Given the description of an element on the screen output the (x, y) to click on. 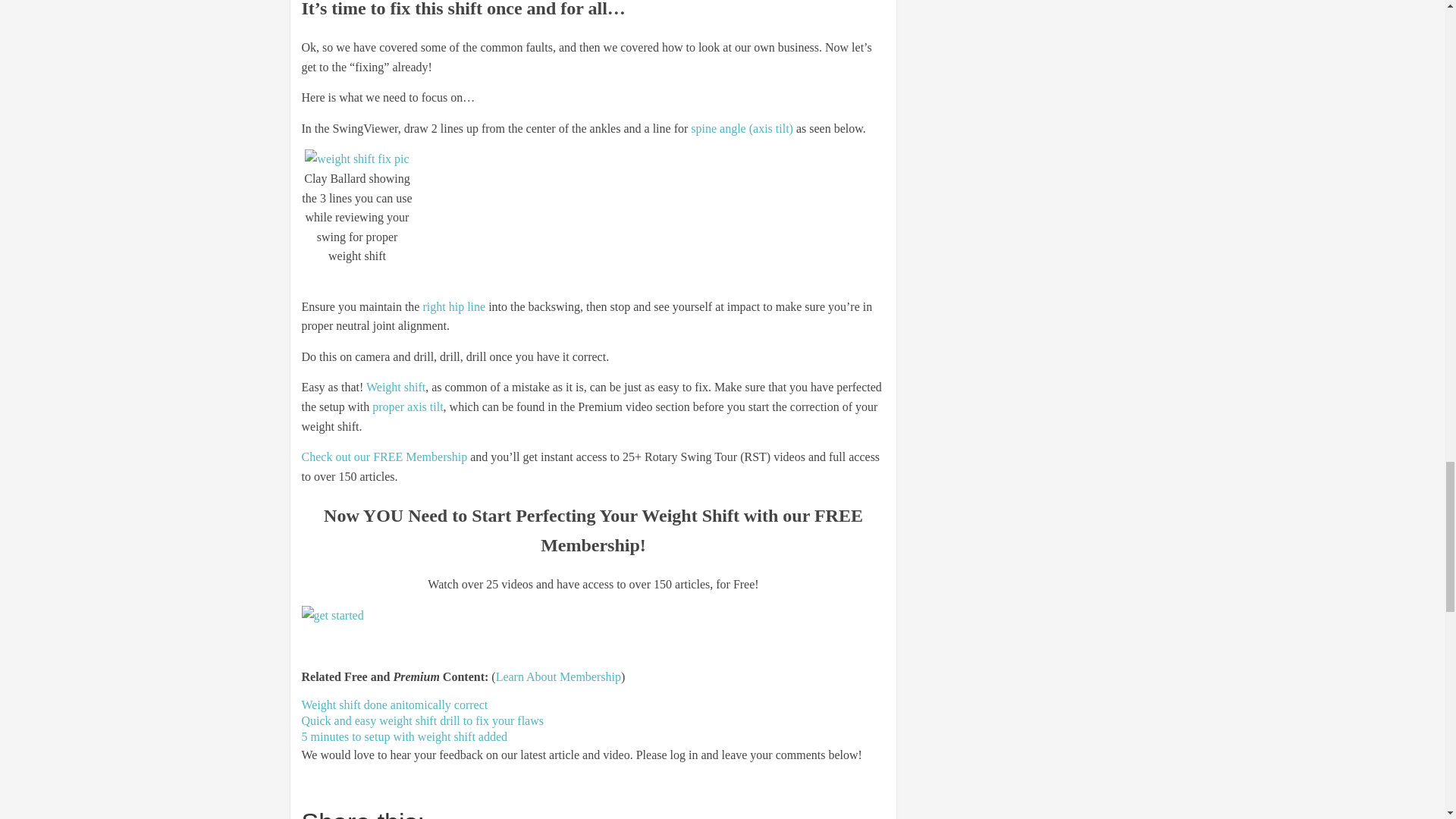
proper axis tilt (407, 406)
Weight shift (395, 386)
right hip line (453, 306)
Proper weight shift lines (356, 158)
Check out our FREE Membership (384, 456)
